Given the description of an element on the screen output the (x, y) to click on. 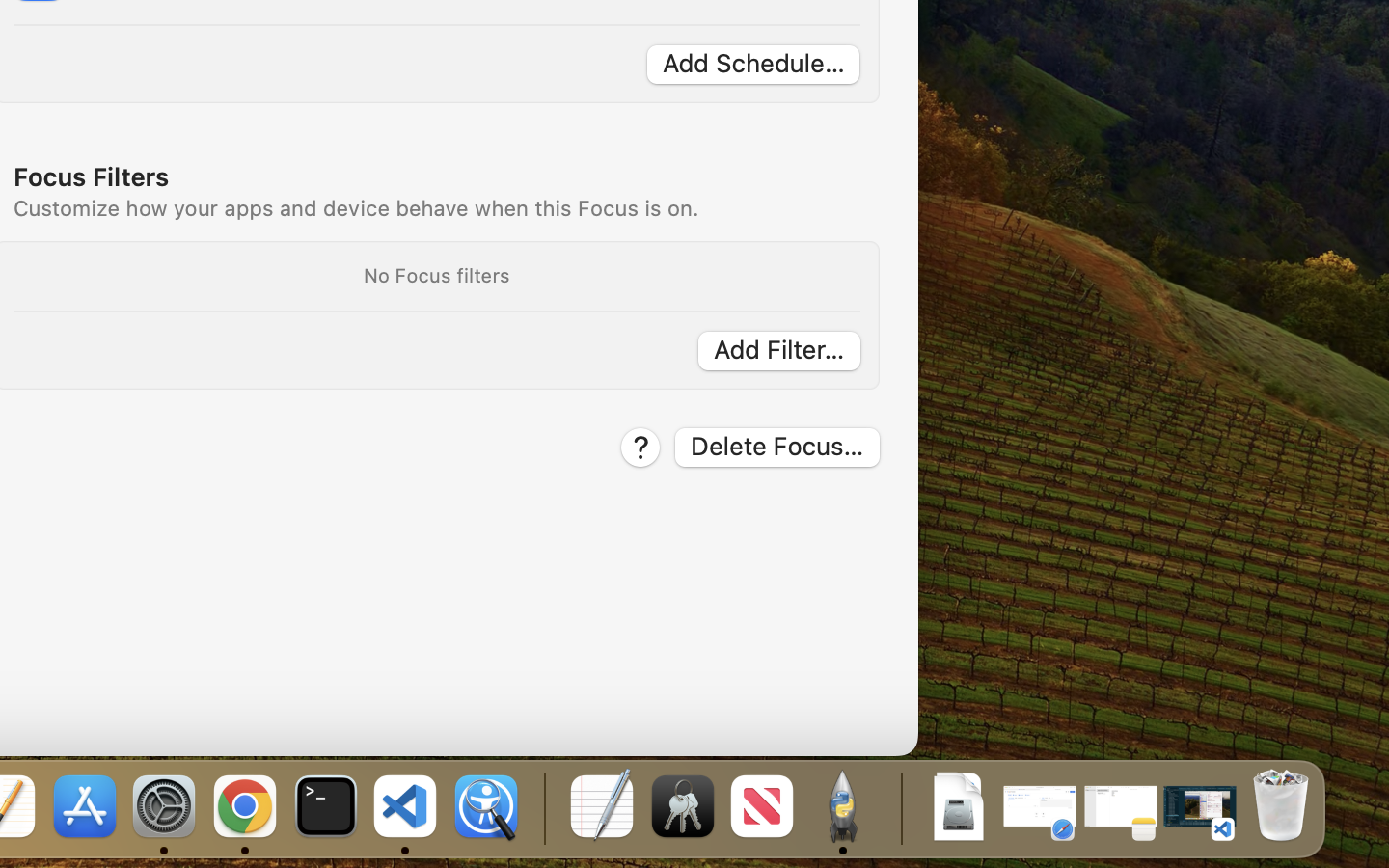
0.4285714328289032 Element type: AXDockItem (541, 807)
No Focus filters Element type: AXStaticText (435, 274)
